Given the description of an element on the screen output the (x, y) to click on. 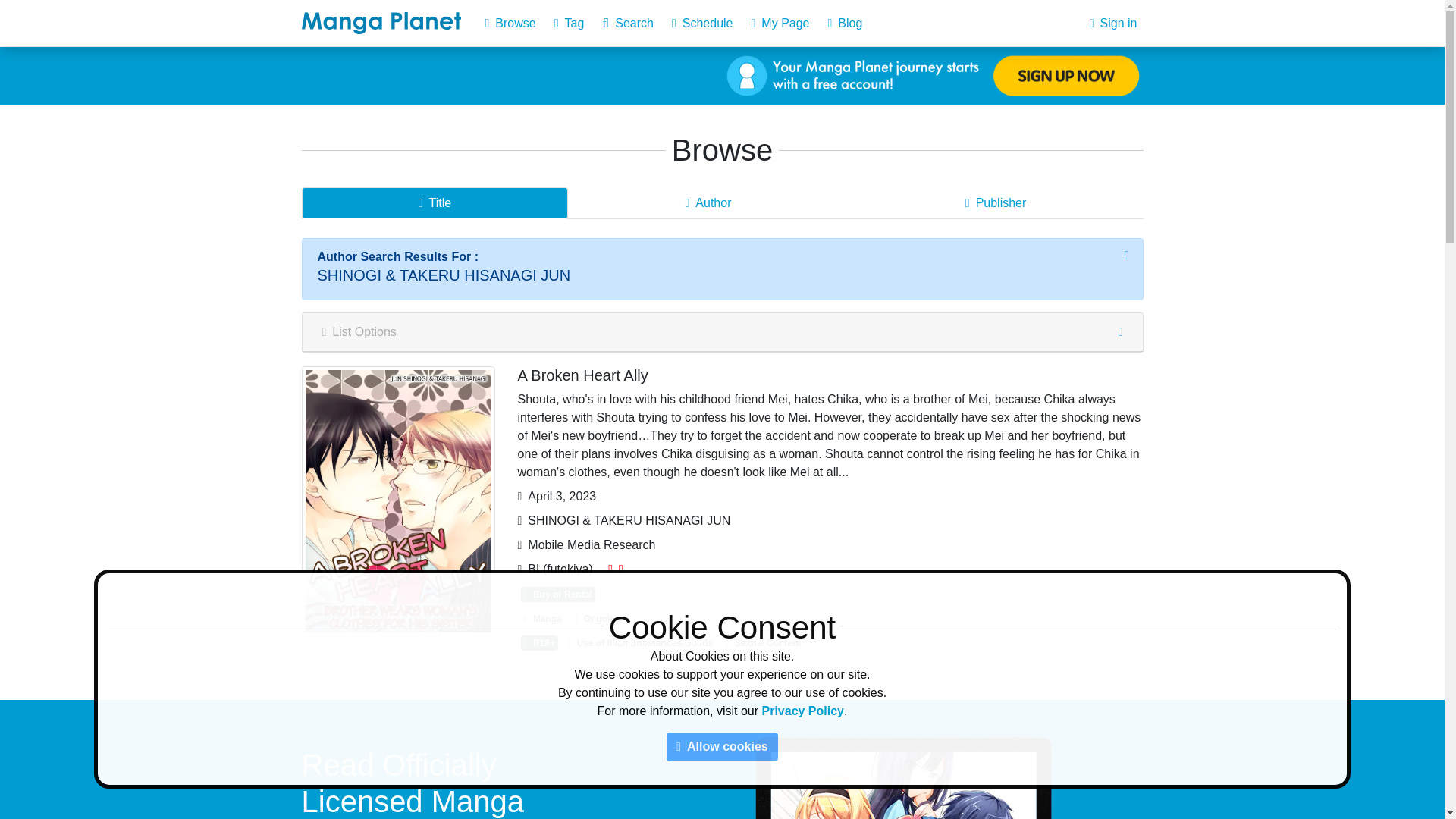
Publisher (995, 203)
List Options (721, 332)
Browse (510, 23)
My Page (780, 23)
Title (435, 203)
Tag (569, 23)
Author (707, 203)
Sign in (1112, 23)
Schedule (702, 23)
Blog (845, 23)
